Given the description of an element on the screen output the (x, y) to click on. 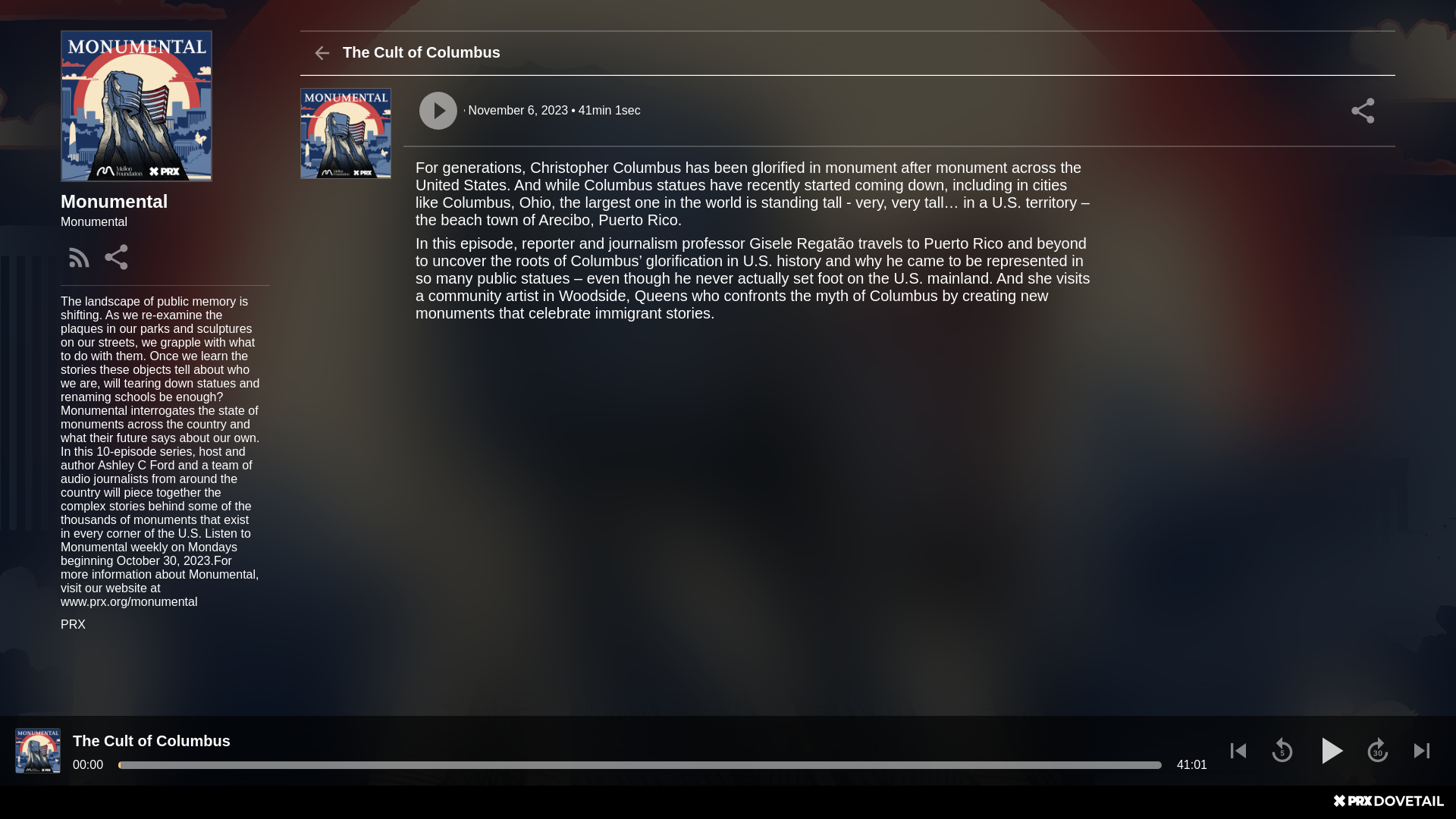
Share (117, 257)
RSS Feed (80, 257)
